Given the description of an element on the screen output the (x, y) to click on. 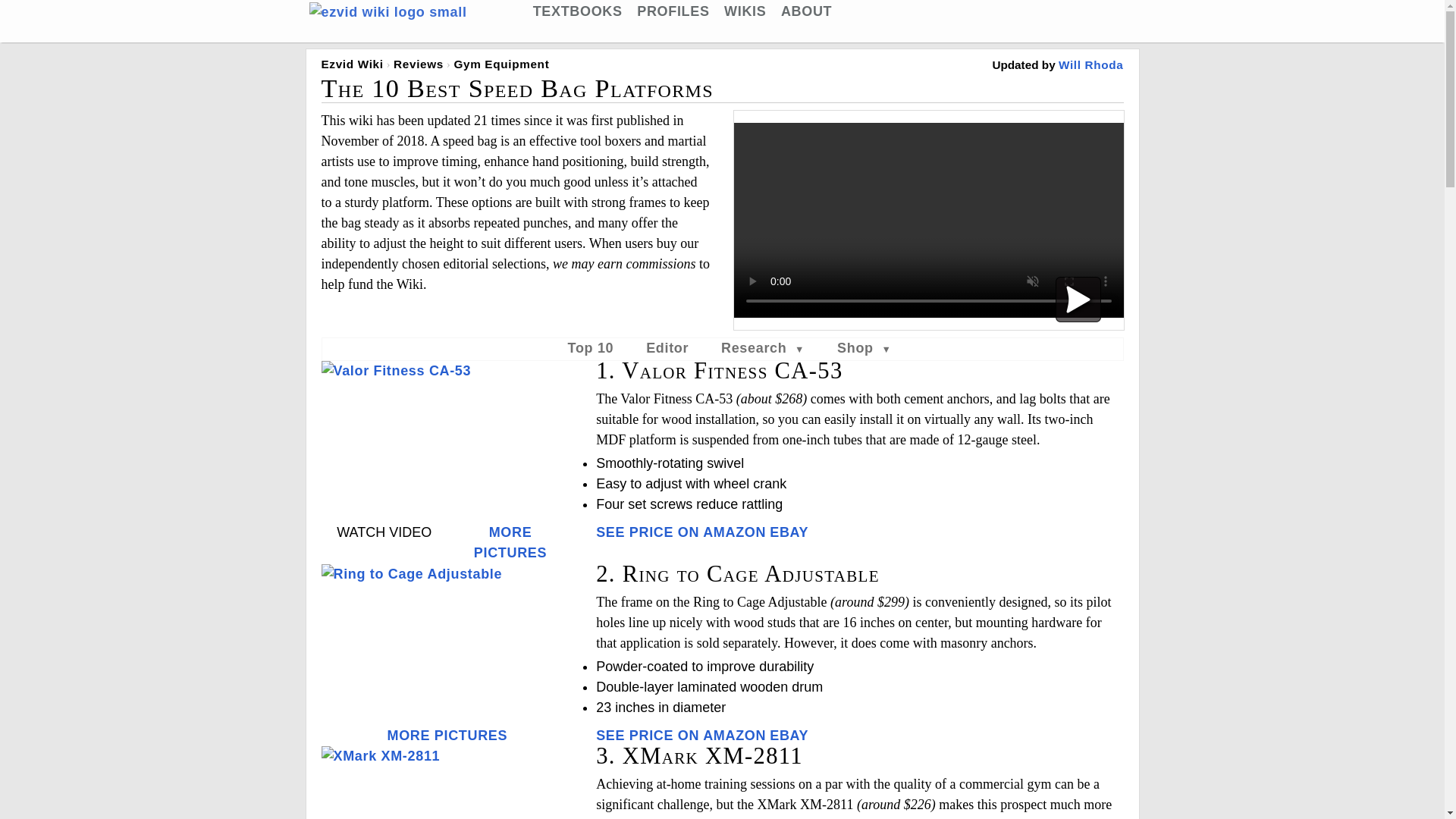
Top 10 (590, 347)
ABOUT (805, 10)
Ezvid Wiki (352, 63)
MORE PICTURES (510, 542)
PROFILES (673, 10)
EBAY (789, 531)
Editor (667, 347)
Will Rhoda (1091, 64)
SEE PRICE ON AMAZON (680, 735)
TEXTBOOKS (577, 10)
MORE PICTURES (446, 735)
Gym Equipment (500, 63)
EBAY (789, 735)
Reviews (418, 63)
SEE PRICE ON AMAZON (680, 531)
